Given the description of an element on the screen output the (x, y) to click on. 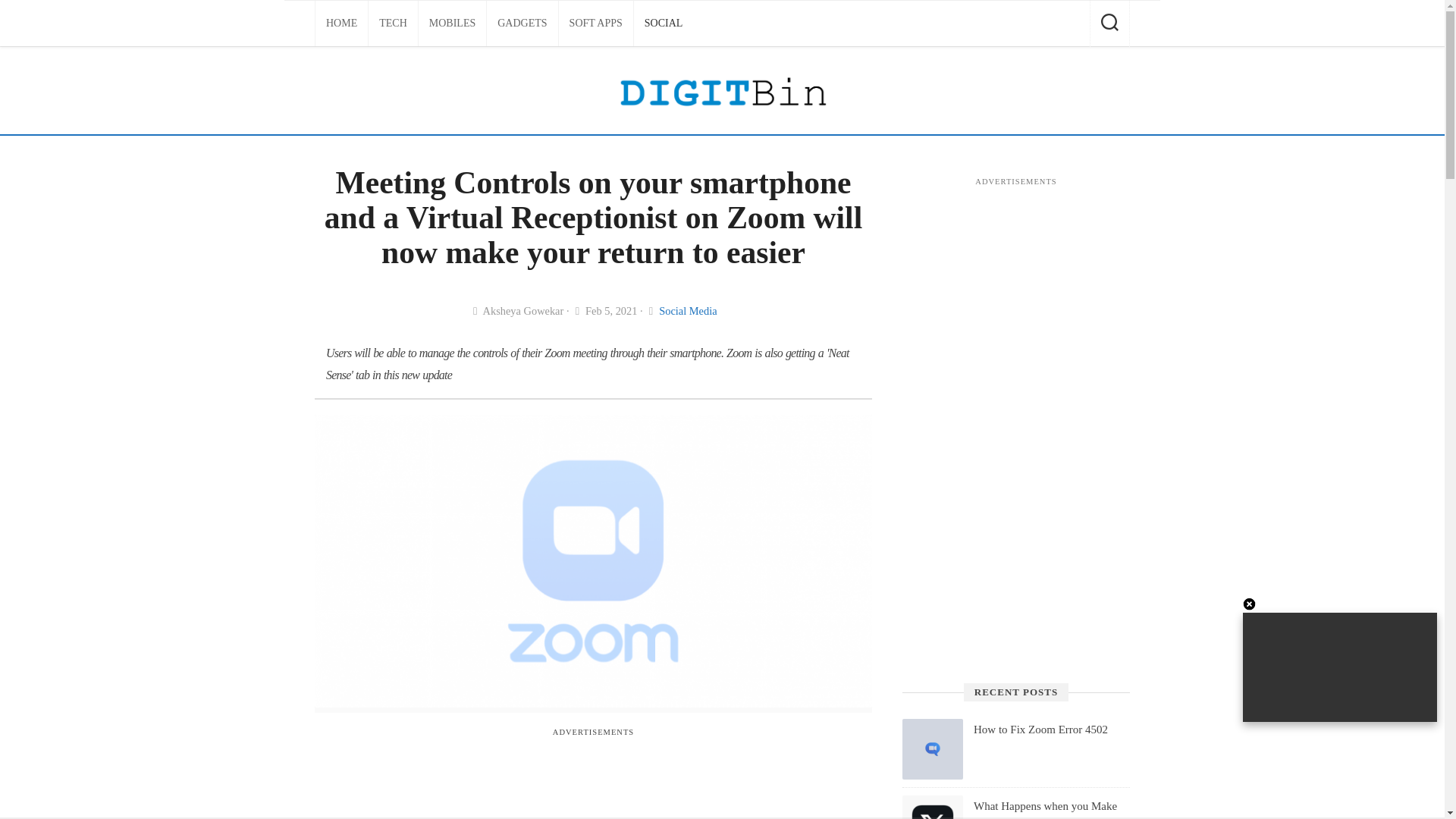
SOCIAL (663, 23)
SOFT APPS (596, 23)
TECH (392, 23)
Social Media (687, 310)
Advertisement (592, 781)
HOME (341, 23)
MOBILES (452, 23)
GADGETS (522, 23)
